Given the description of an element on the screen output the (x, y) to click on. 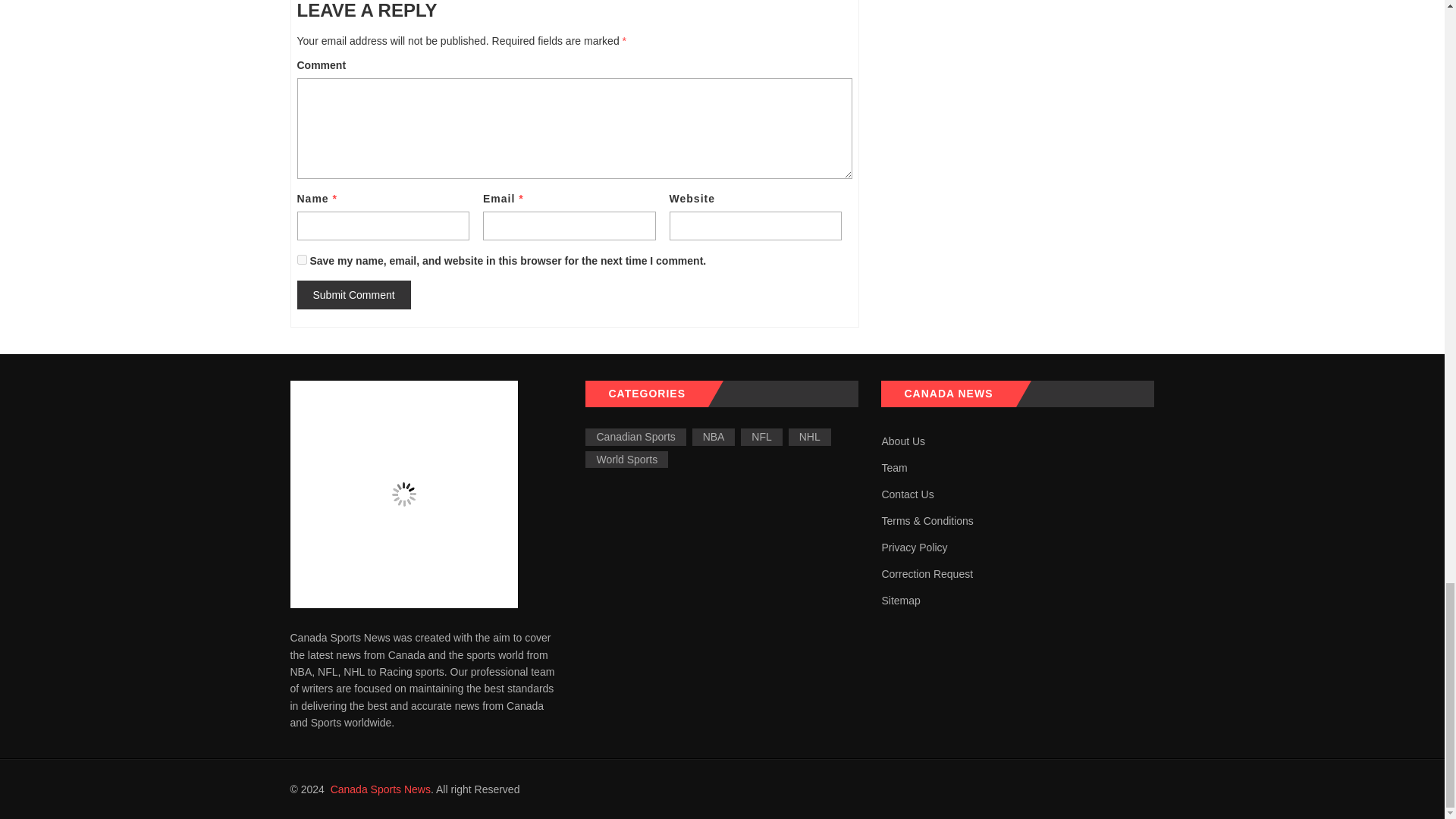
yes (302, 259)
